Given the description of an element on the screen output the (x, y) to click on. 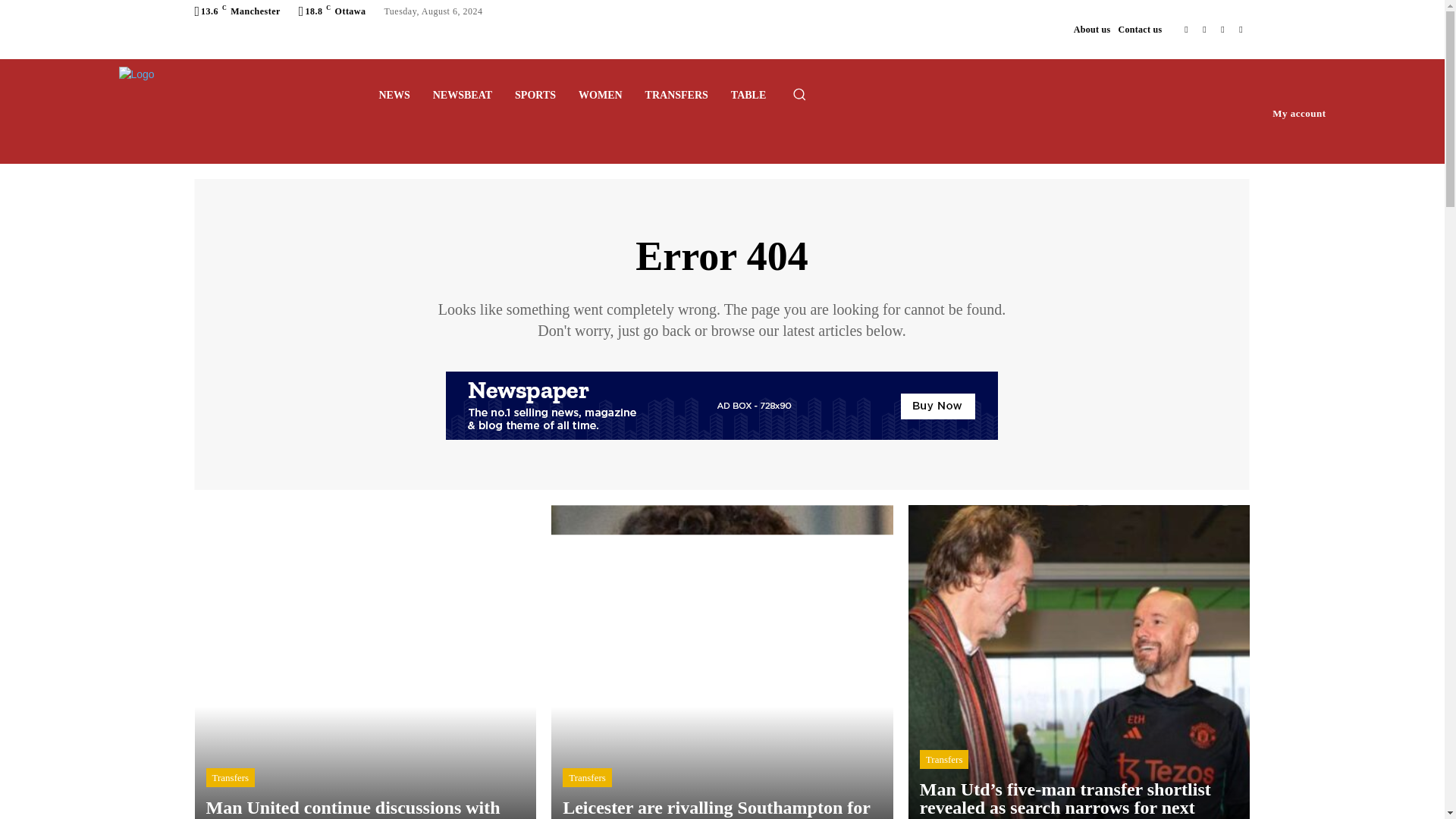
WOMEN (600, 94)
Facebook (1185, 29)
About us (1092, 29)
Contact us (1139, 29)
Twitter (1221, 29)
Instagram (1203, 29)
NEWSBEAT (462, 94)
TABLE (748, 94)
NEWS (393, 94)
Leicester are rivalling Southampton for Fabio Carvalho (716, 808)
SPORTS (535, 94)
Youtube (1240, 29)
TRANSFERS (676, 94)
